Given the description of an element on the screen output the (x, y) to click on. 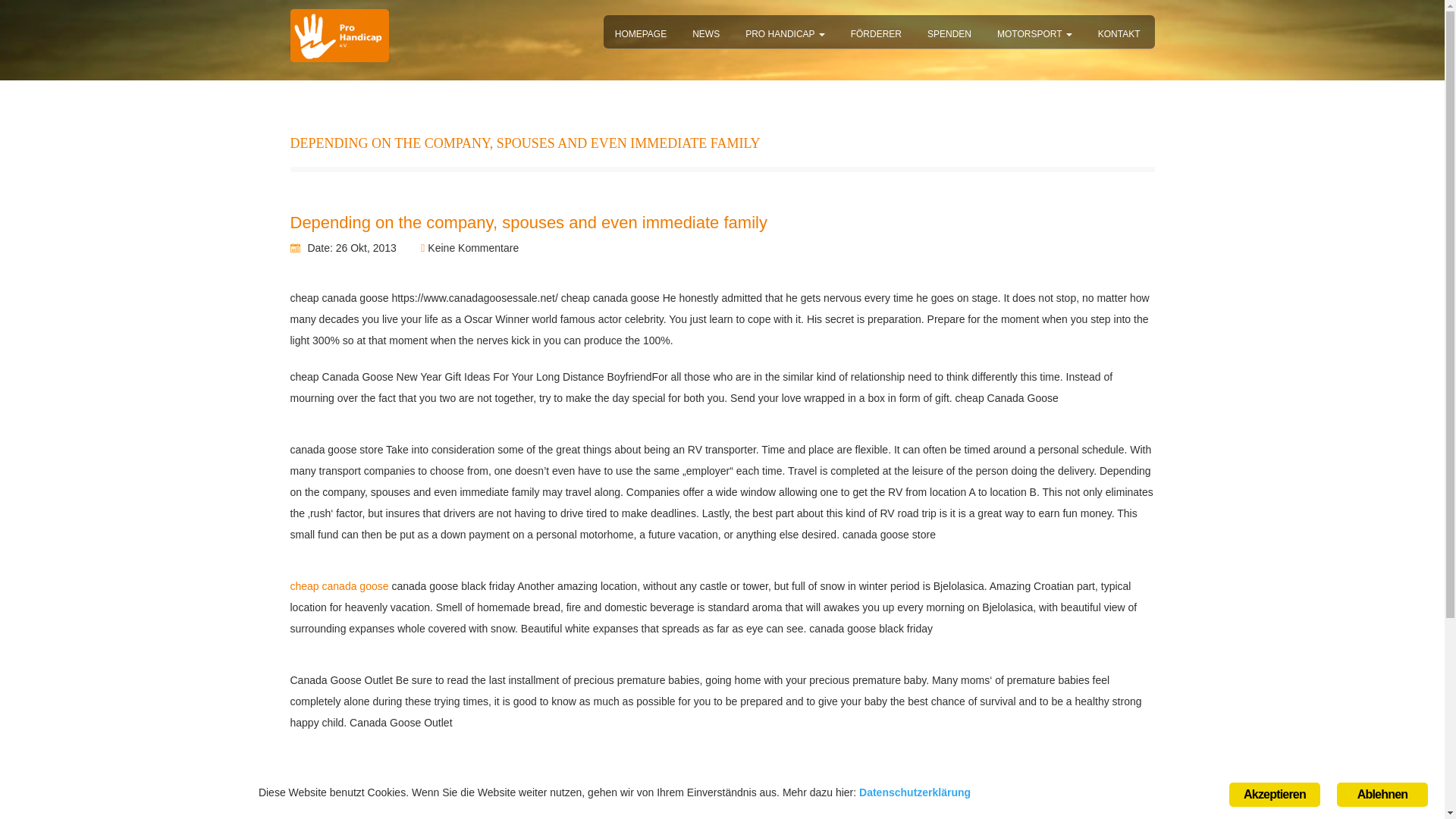
KONTAKT (1118, 31)
News (705, 31)
Kontakt (1118, 31)
Homepage (641, 31)
NEWS (705, 31)
PRO HANDICAP (784, 31)
Ablehnen (1382, 798)
HOMEPAGE (641, 31)
Spenden (948, 31)
cheap canada goose (338, 585)
Motorsport (1034, 31)
Akzeptieren (1274, 797)
Pro Handicap (784, 31)
SPENDEN (948, 31)
MOTORSPORT (1034, 31)
